Given the description of an element on the screen output the (x, y) to click on. 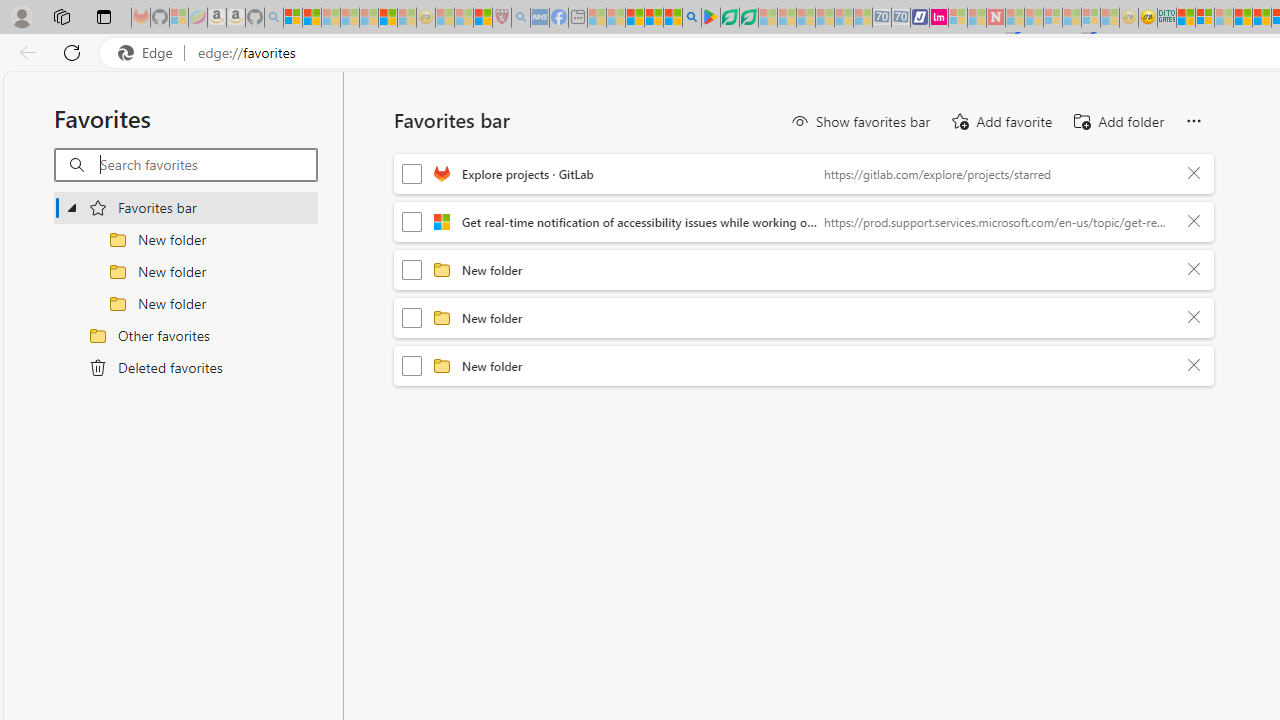
Refresh (72, 52)
Show favorites bar (859, 121)
Bluey: Let's Play! - Apps on Google Play (710, 17)
Add folder (1117, 121)
FolderNew folder (803, 365)
Search favorites (207, 165)
MSNBC - MSN - Sleeping (596, 17)
